Given the description of an element on the screen output the (x, y) to click on. 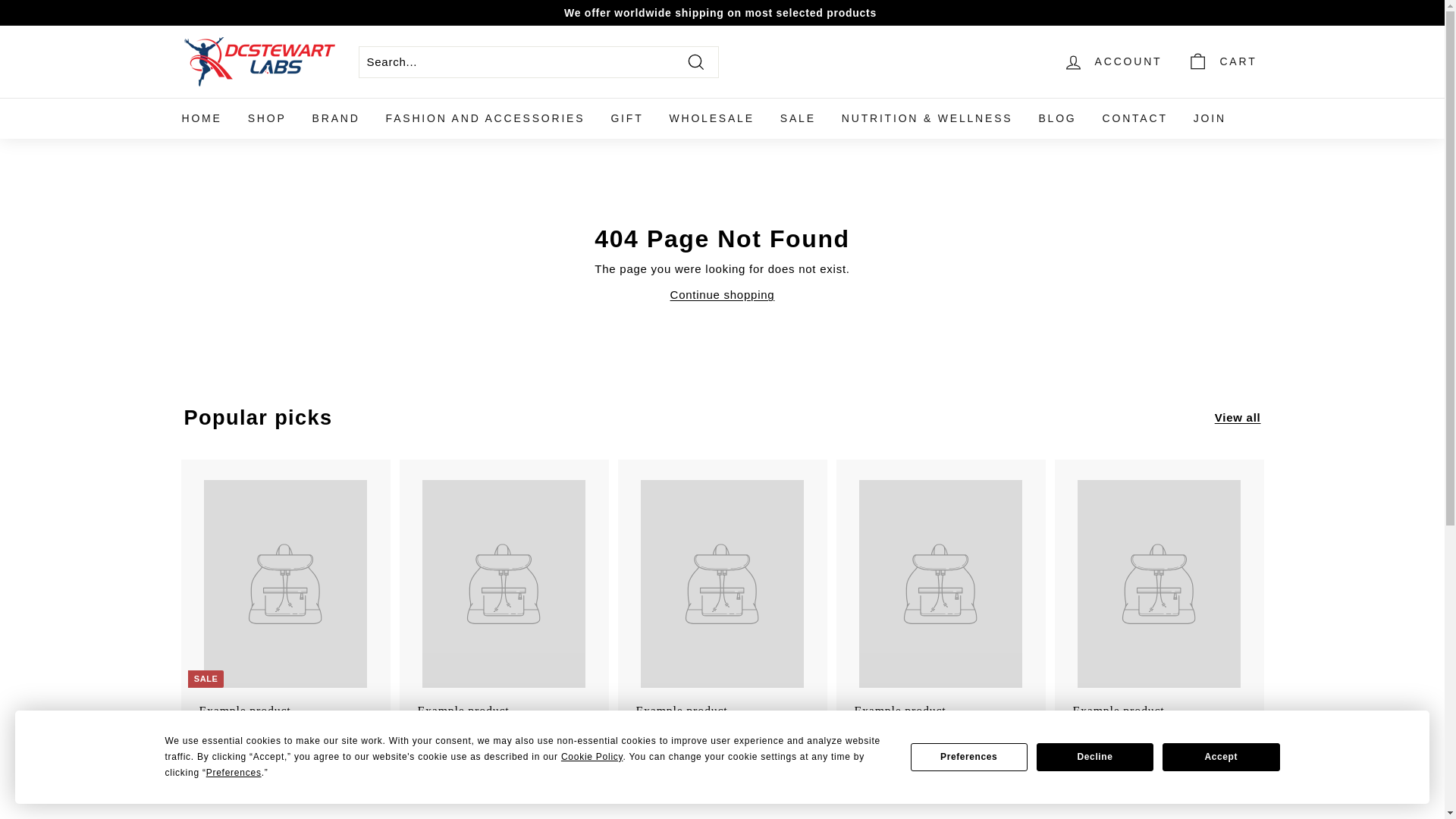
SHOP (266, 117)
HOME (201, 117)
ACCOUNT (1111, 61)
Accept (1220, 756)
Decline (1094, 756)
Preferences (969, 756)
